Given the description of an element on the screen output the (x, y) to click on. 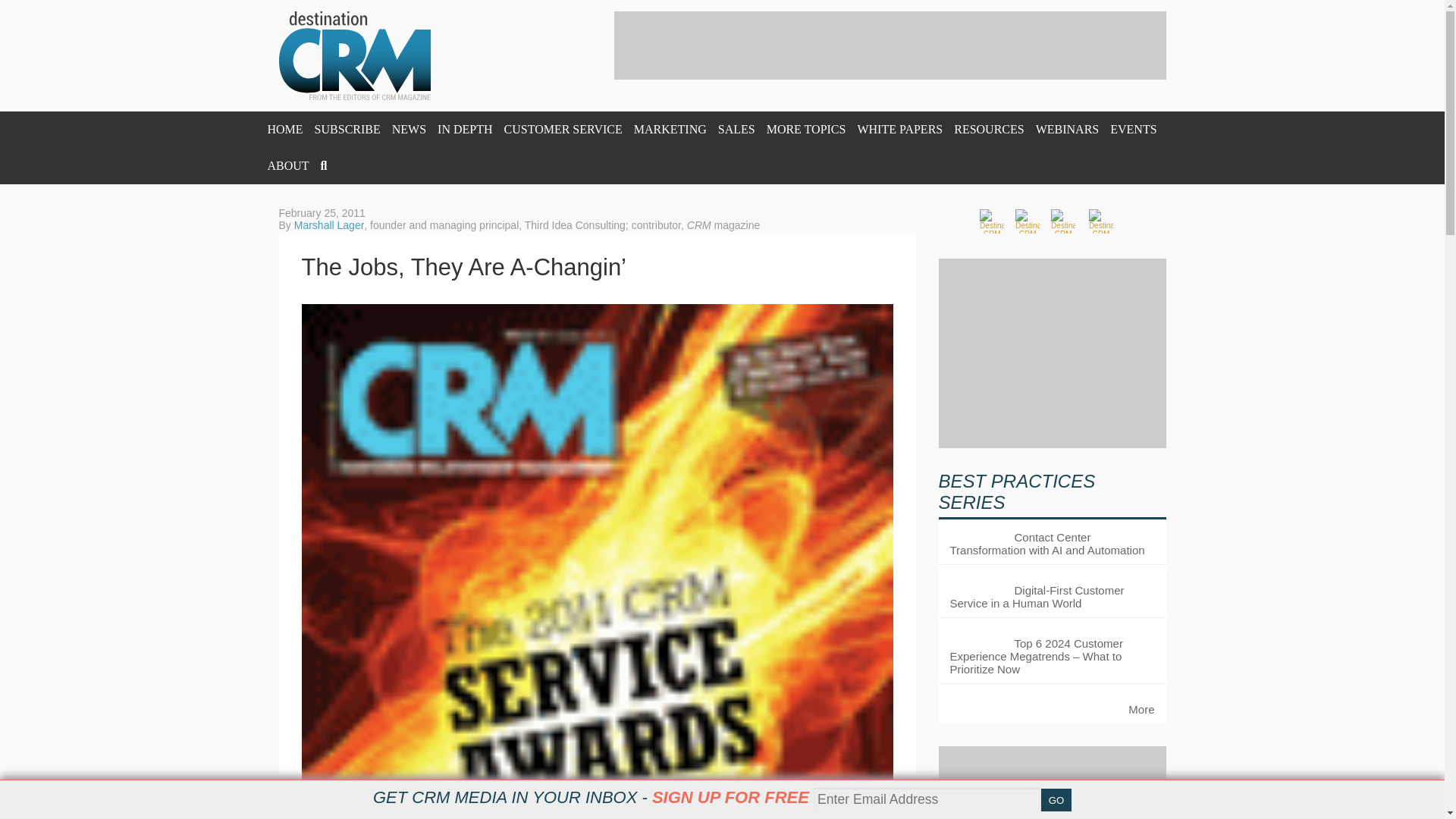
HOME (284, 129)
SUBSCRIBE (347, 129)
IN DEPTH (465, 129)
GET CRM MEDIA IN YOUR INBOX - SIGN UP FOR FREE (590, 797)
Marketing (669, 129)
WHITE PAPERS (899, 129)
RESOURCES (988, 129)
CUSTOMER SERVICE (563, 129)
MARKETING (669, 129)
Sales (736, 129)
